Given the description of an element on the screen output the (x, y) to click on. 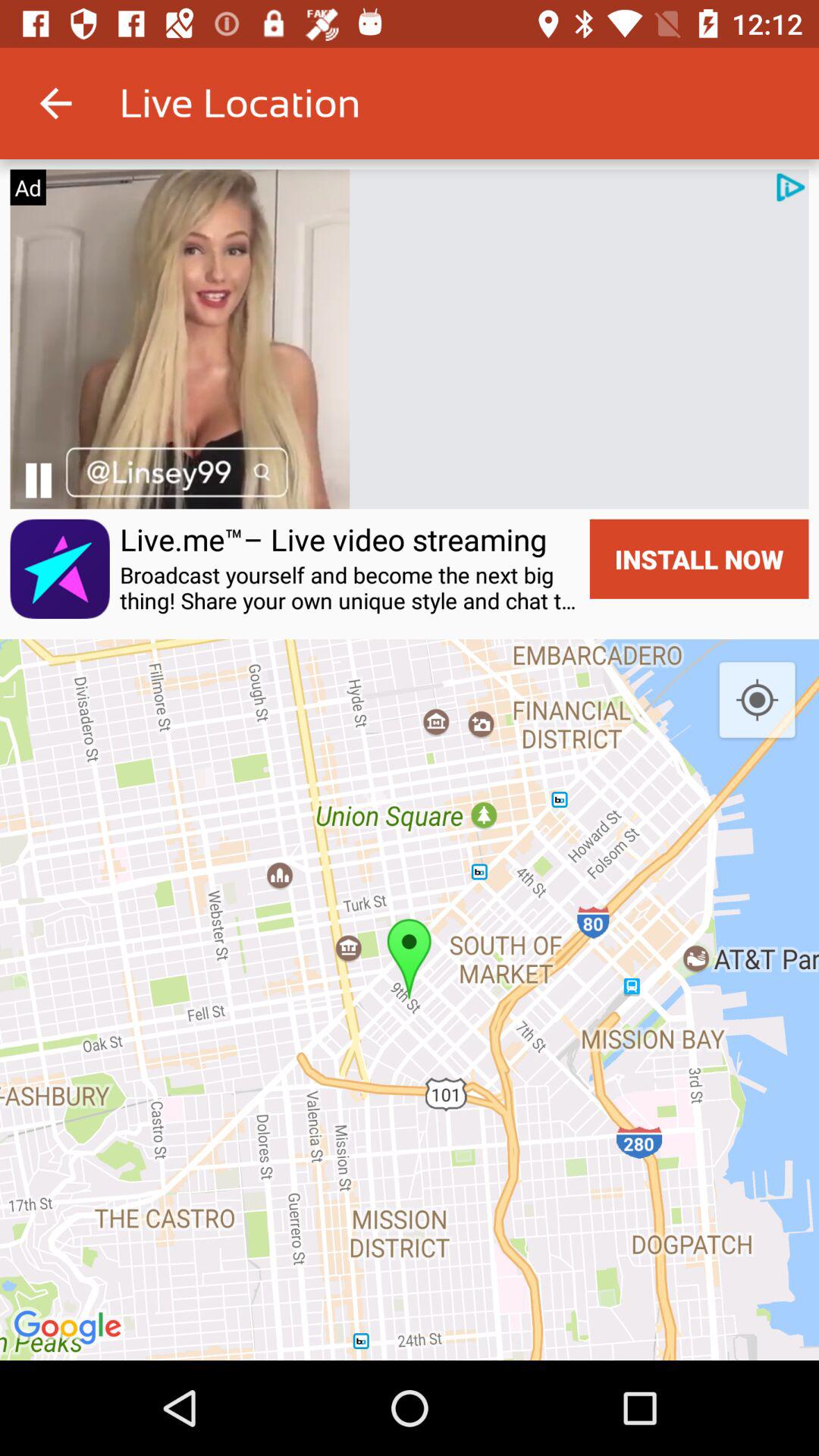
pause the video (38, 480)
